Given the description of an element on the screen output the (x, y) to click on. 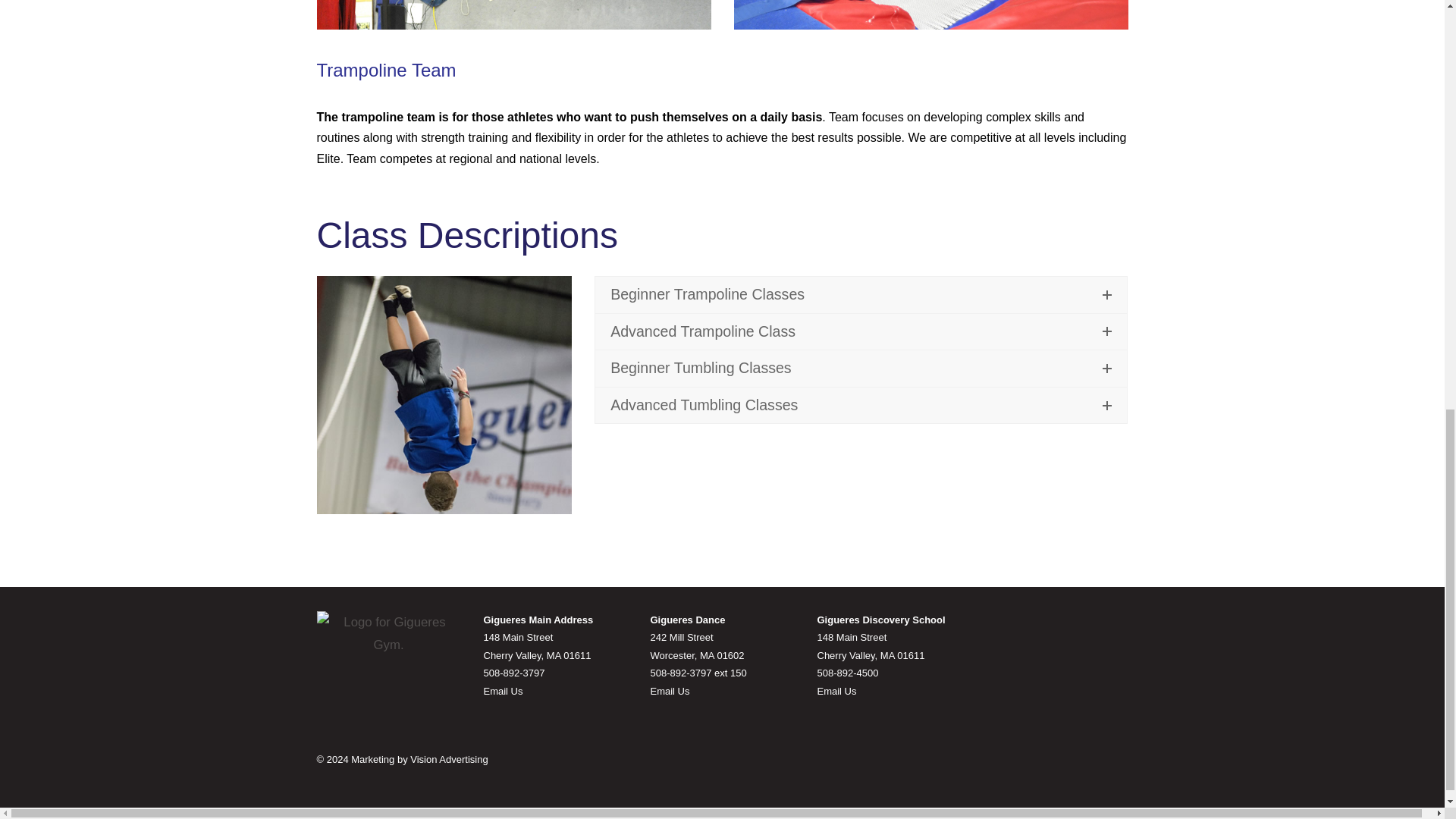
flipping1 (444, 395)
Beginner Trampoline Classes (860, 294)
Trampoline-AdvancedSmaller (514, 15)
Advanced Trampoline Class (860, 331)
Beginner Tumbling Classes (860, 368)
beginnertrampoline-scaled2 (930, 15)
footer-logo (389, 633)
